Given the description of an element on the screen output the (x, y) to click on. 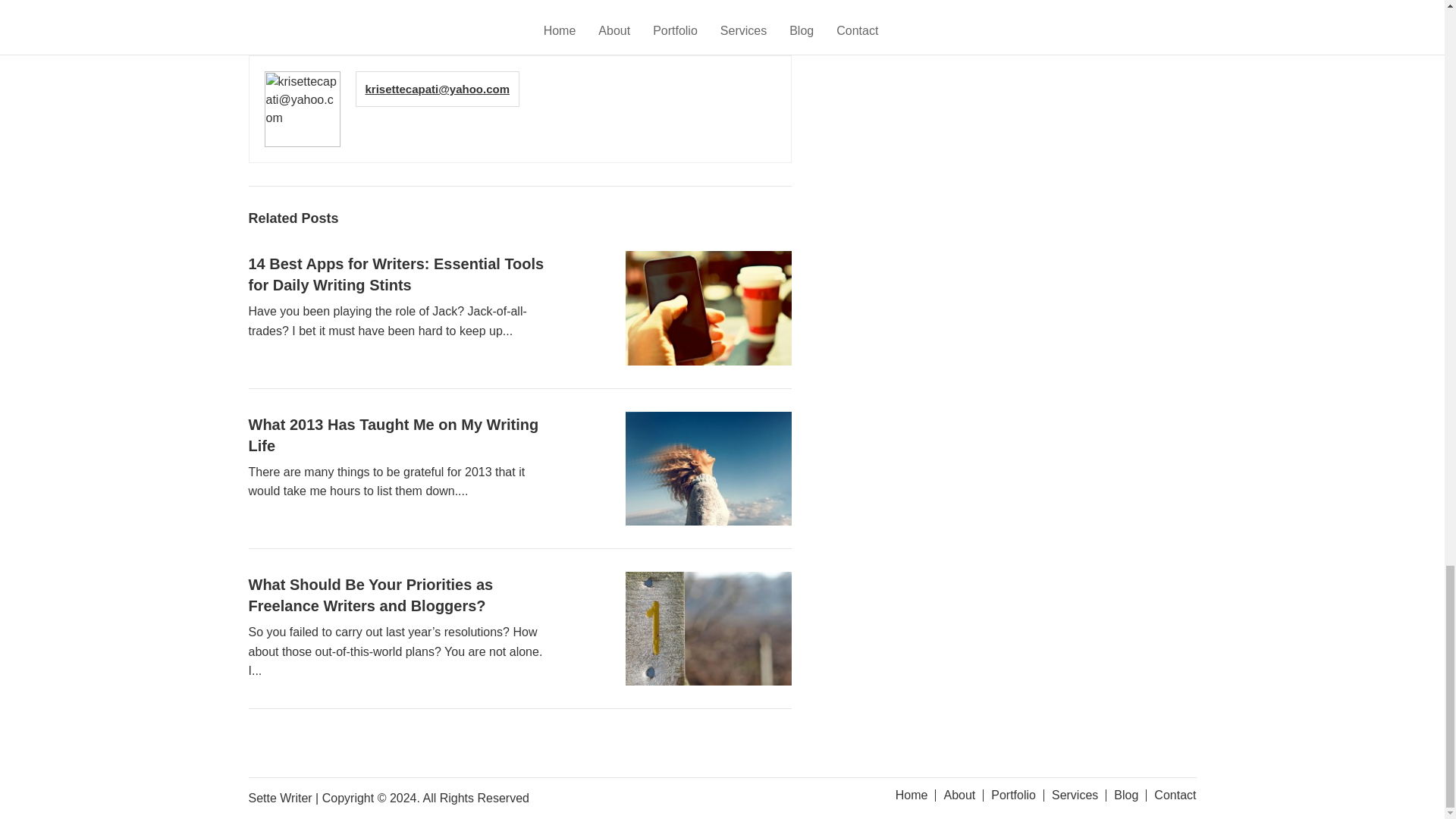
What 2013 Has Taught Me on My Writing Life (393, 435)
